Given the description of an element on the screen output the (x, y) to click on. 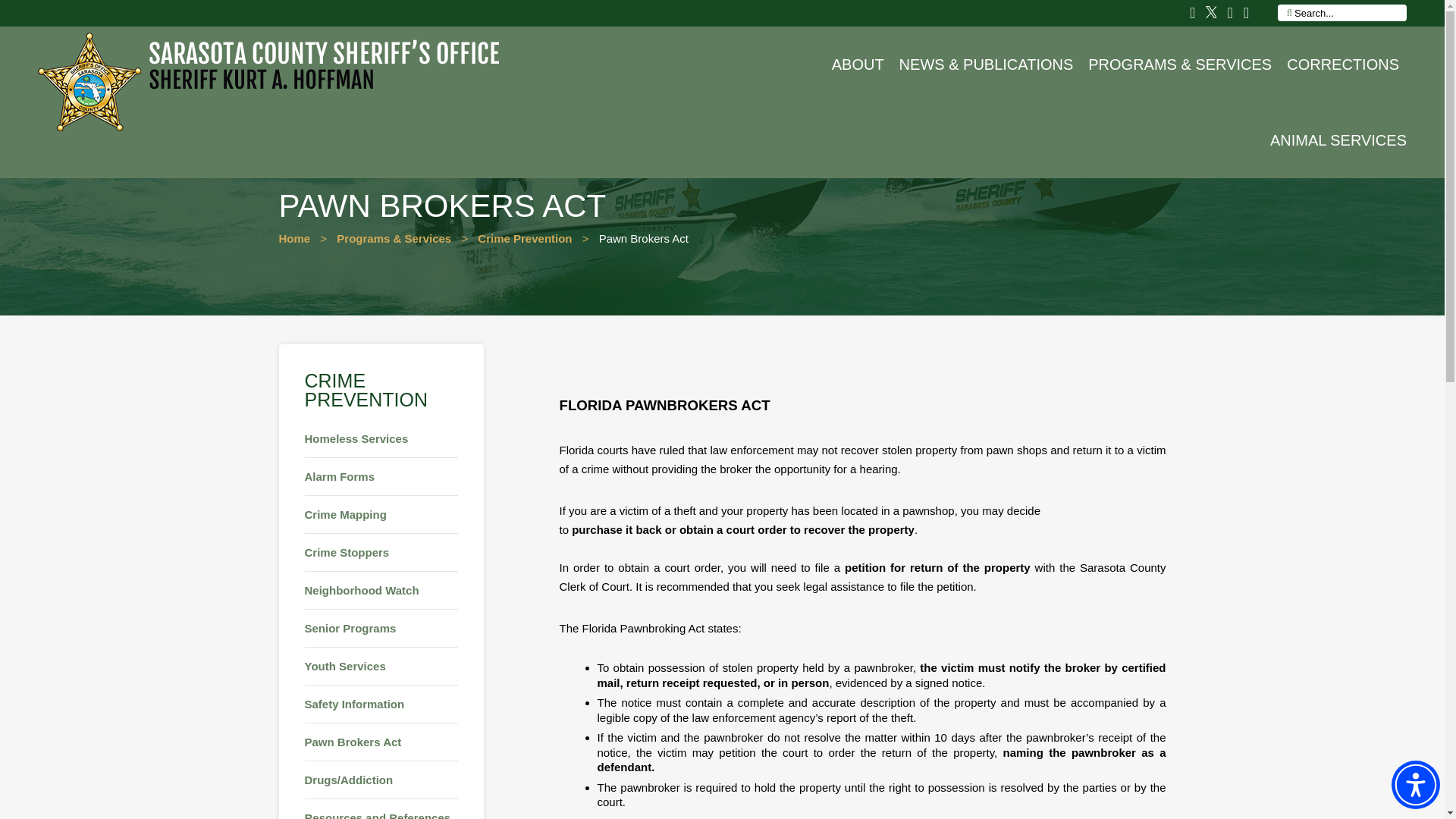
Accessibility Menu (1415, 784)
ABOUT (857, 64)
